Given the description of an element on the screen output the (x, y) to click on. 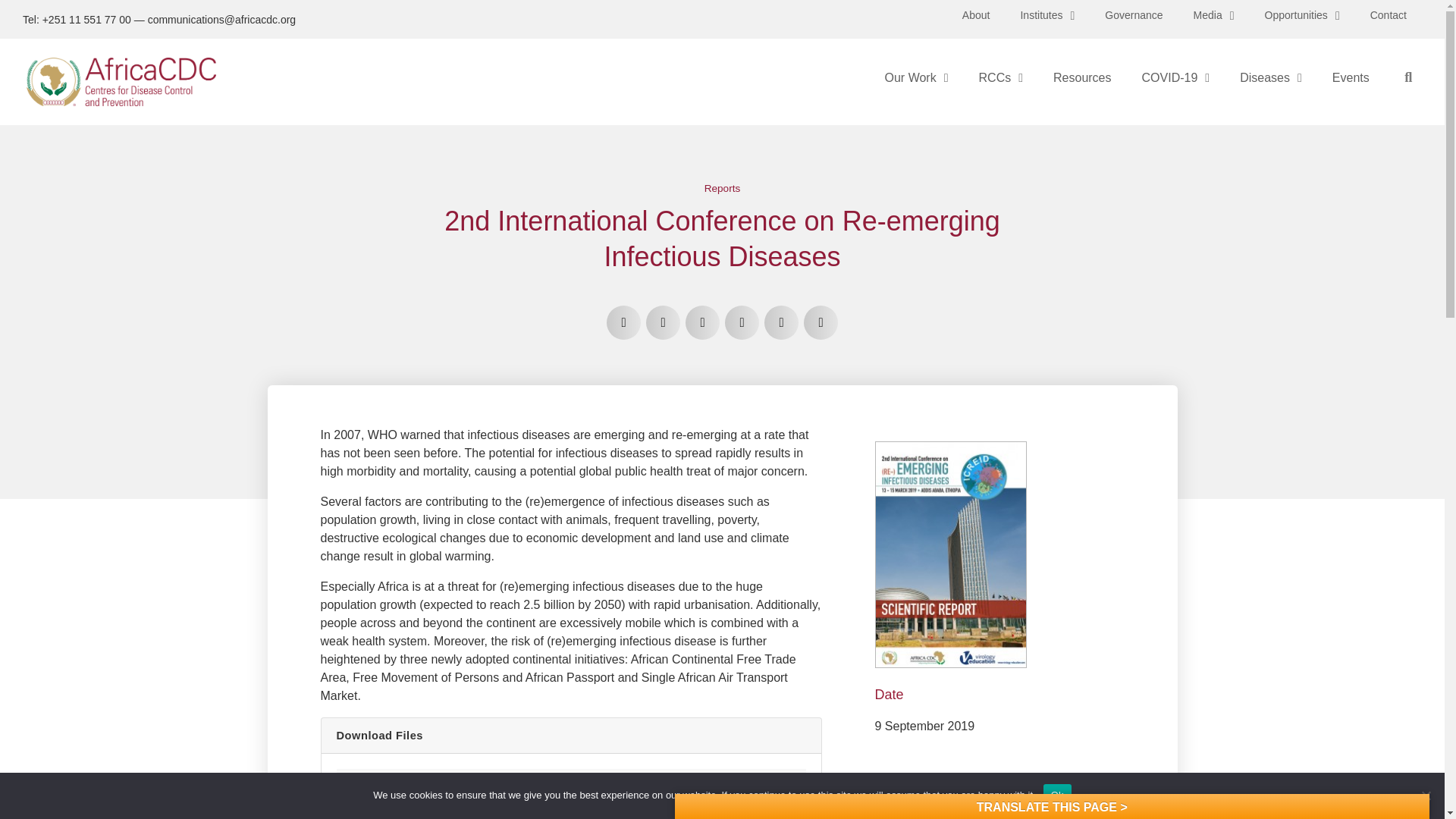
No (1425, 795)
About (976, 15)
Opportunities (1302, 15)
Governance (1133, 15)
Contact (1388, 15)
Media (1213, 15)
Our Work (916, 77)
Institutes (1046, 15)
